Given the description of an element on the screen output the (x, y) to click on. 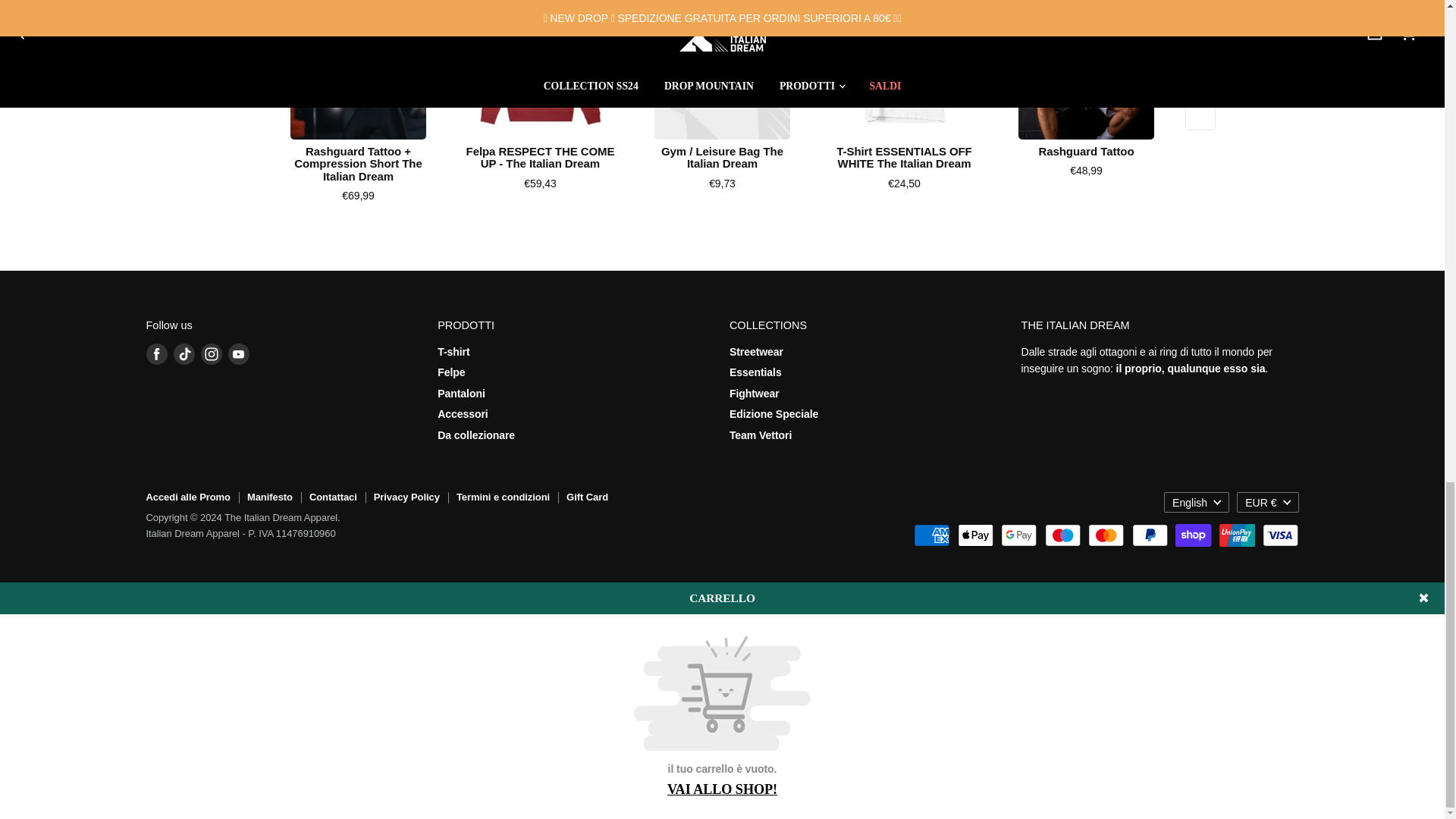
Facebook (156, 353)
T-Shirt ESSENTIALS OFF WHITE The Italian Dream (904, 69)
Tik Tok (183, 353)
Felpa RESPECT THE COME UP - The Italian Dream (540, 69)
Rashguard Tattoo (1086, 69)
Youtube (237, 353)
Instagram (210, 353)
